Given the description of an element on the screen output the (x, y) to click on. 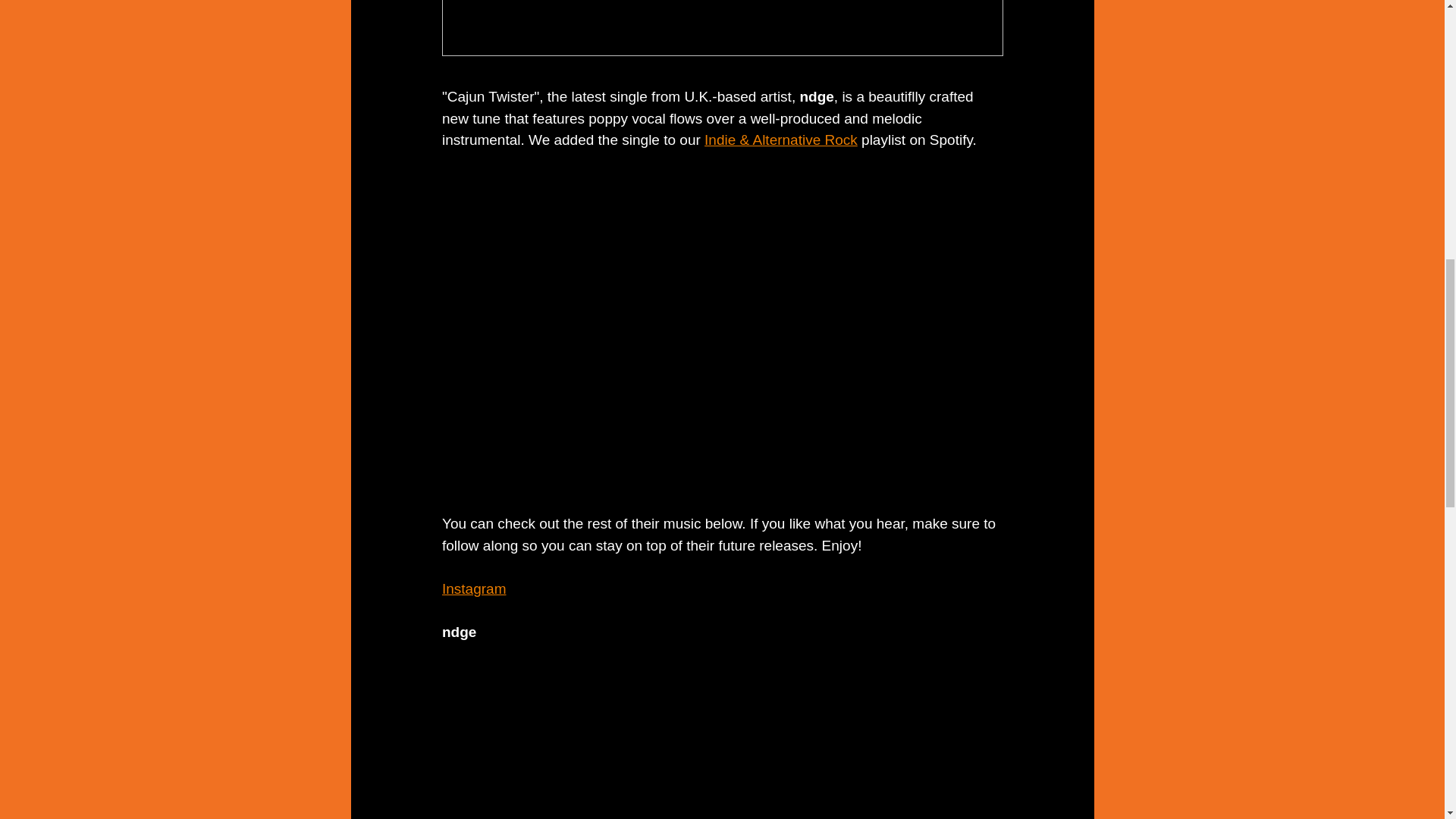
remote content (722, 742)
ricos-video (722, 231)
Instagram (473, 587)
